Given the description of an element on the screen output the (x, y) to click on. 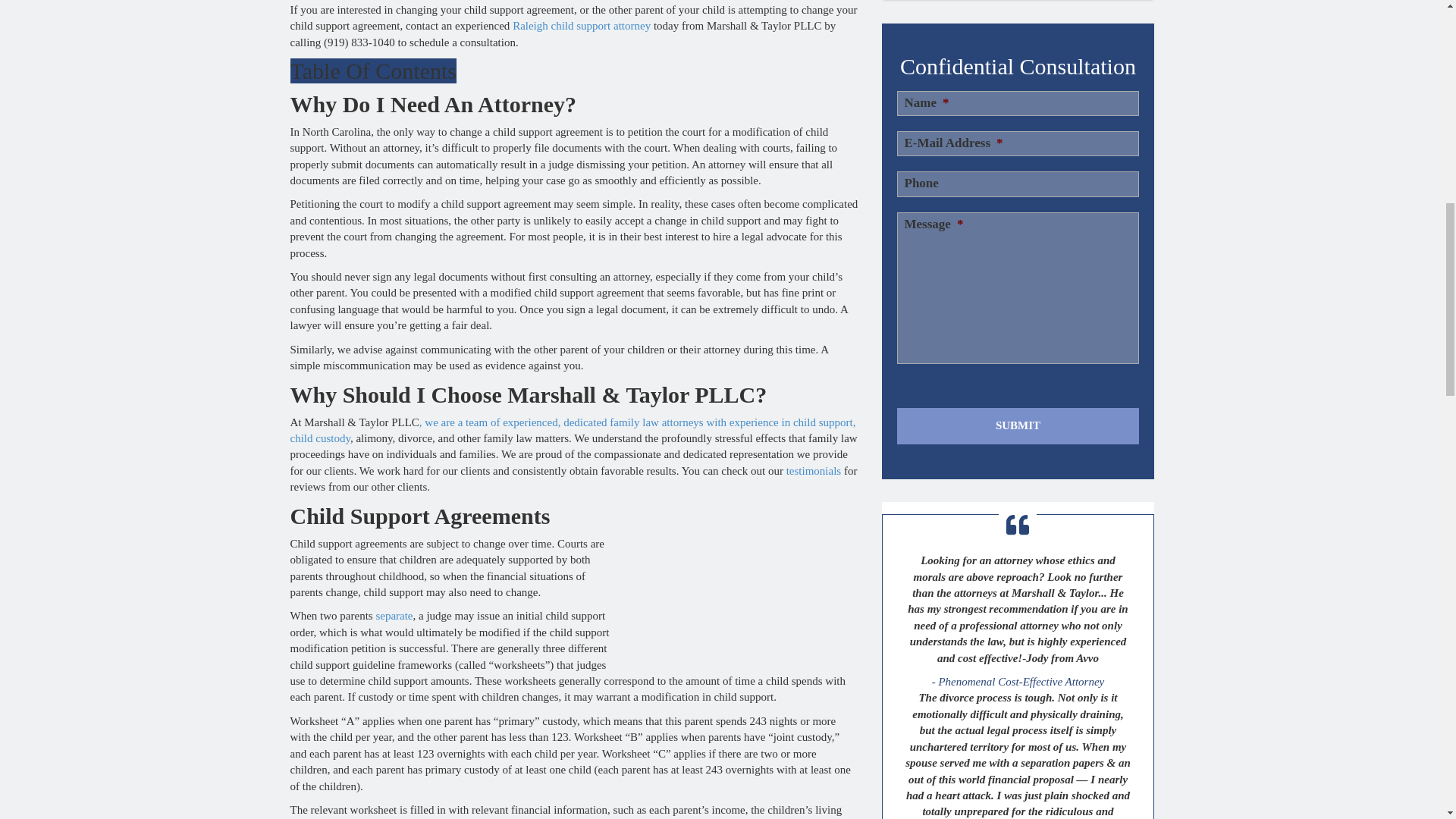
Submit (1017, 63)
separate (393, 615)
Child Custody (572, 430)
Raleigh child support attorney (581, 25)
Separation (393, 615)
testimonials (813, 470)
Submit (1017, 63)
